Given the description of an element on the screen output the (x, y) to click on. 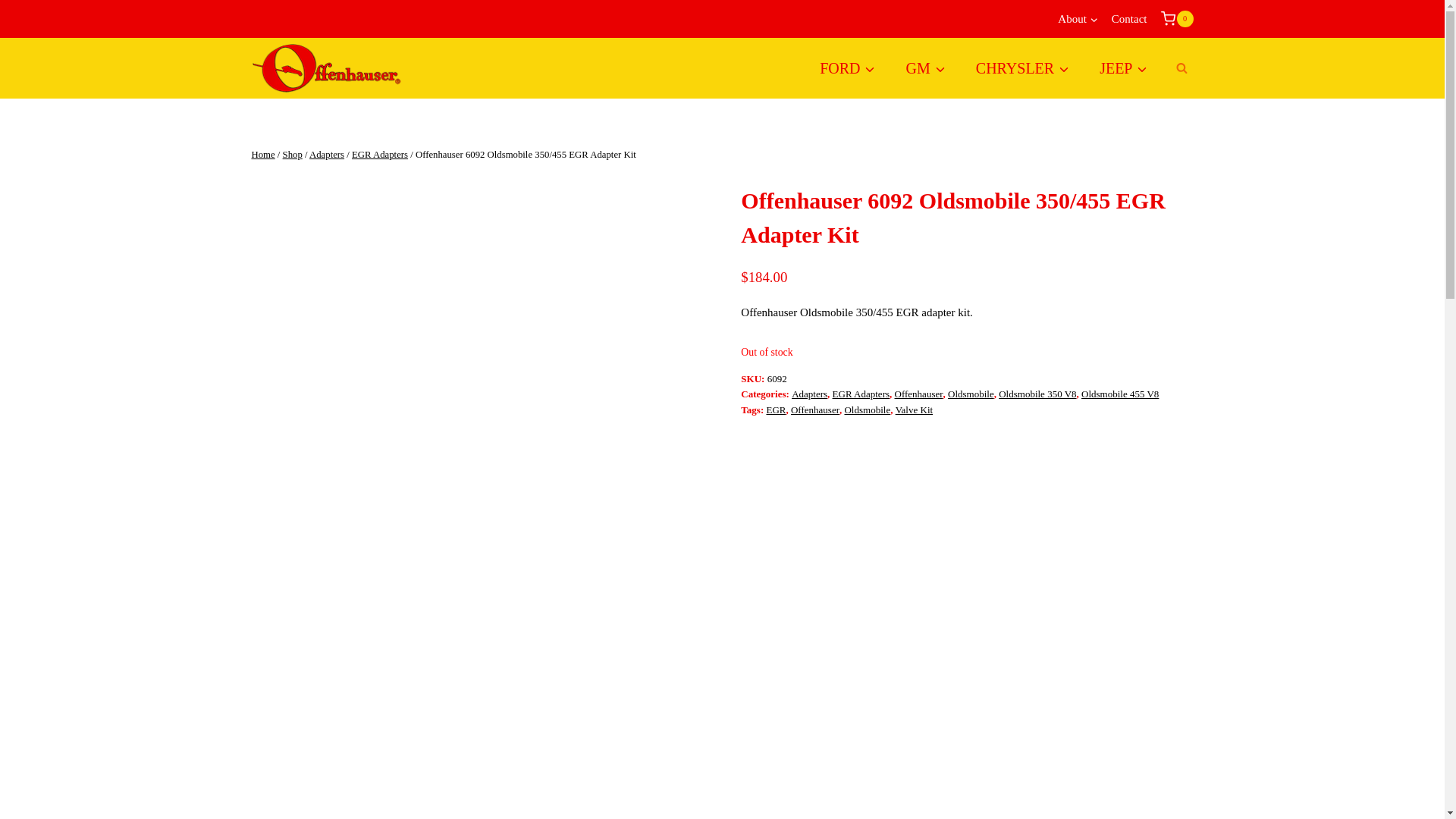
FORD (847, 67)
Contact (1129, 19)
CHRYSLER (1022, 67)
0 (1176, 18)
Shop (292, 154)
Home (263, 154)
About (1078, 19)
GM (925, 67)
Adapters (325, 154)
EGR Adapters (379, 154)
